Given the description of an element on the screen output the (x, y) to click on. 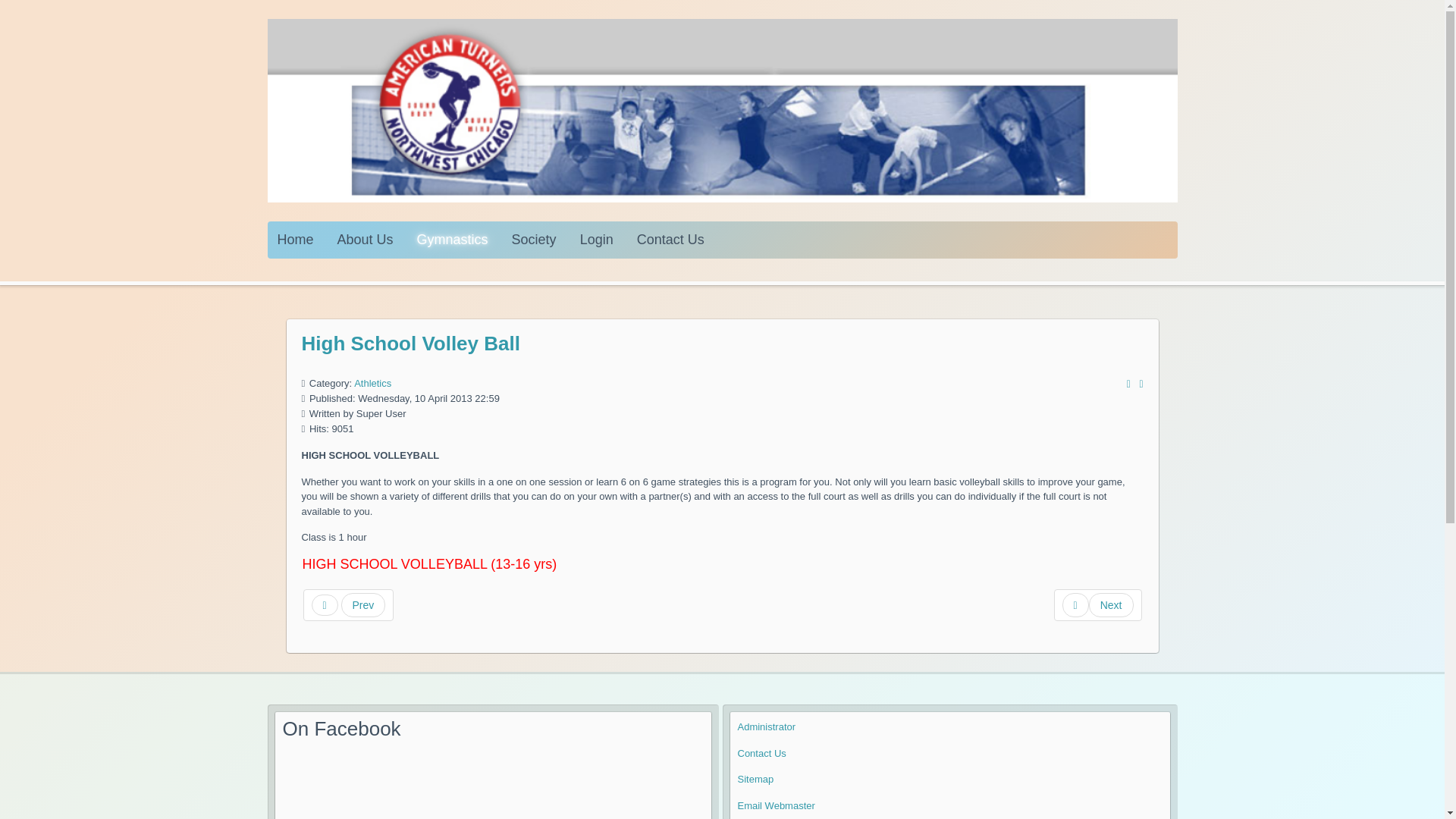
Prev (348, 604)
About Us (364, 239)
Society (533, 239)
Administrator (765, 726)
Gymnastics (452, 239)
Email Webmaster (774, 805)
Login (596, 239)
Contact Us (761, 753)
Next (1097, 604)
Home (295, 239)
Athletics (372, 383)
Contact Us (670, 239)
Contact Us (761, 753)
High School Volley Ball (410, 343)
Site Map Northwest Turners (754, 778)
